Given the description of an element on the screen output the (x, y) to click on. 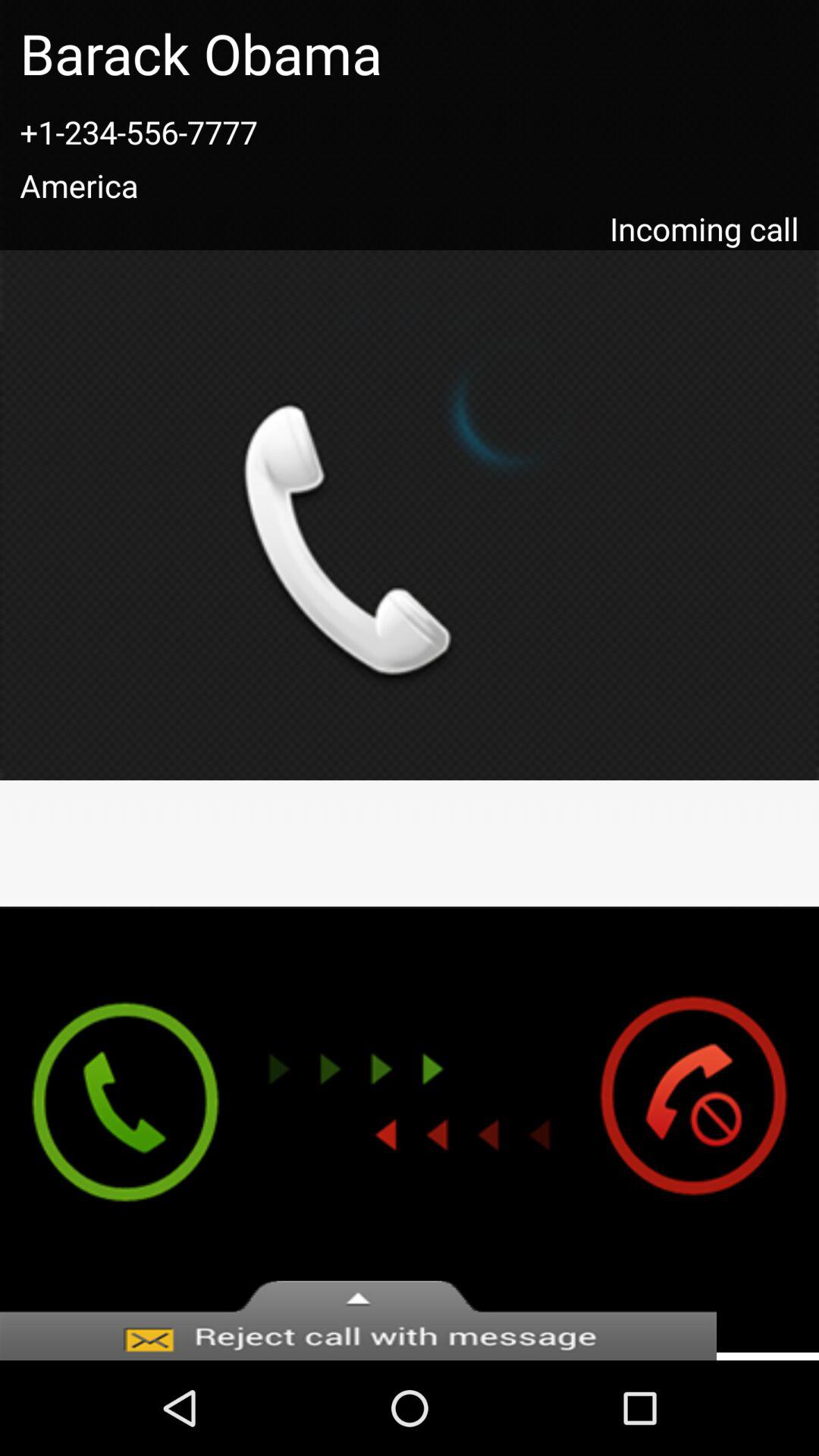
open the icon at the bottom left corner (111, 1129)
